Given the description of an element on the screen output the (x, y) to click on. 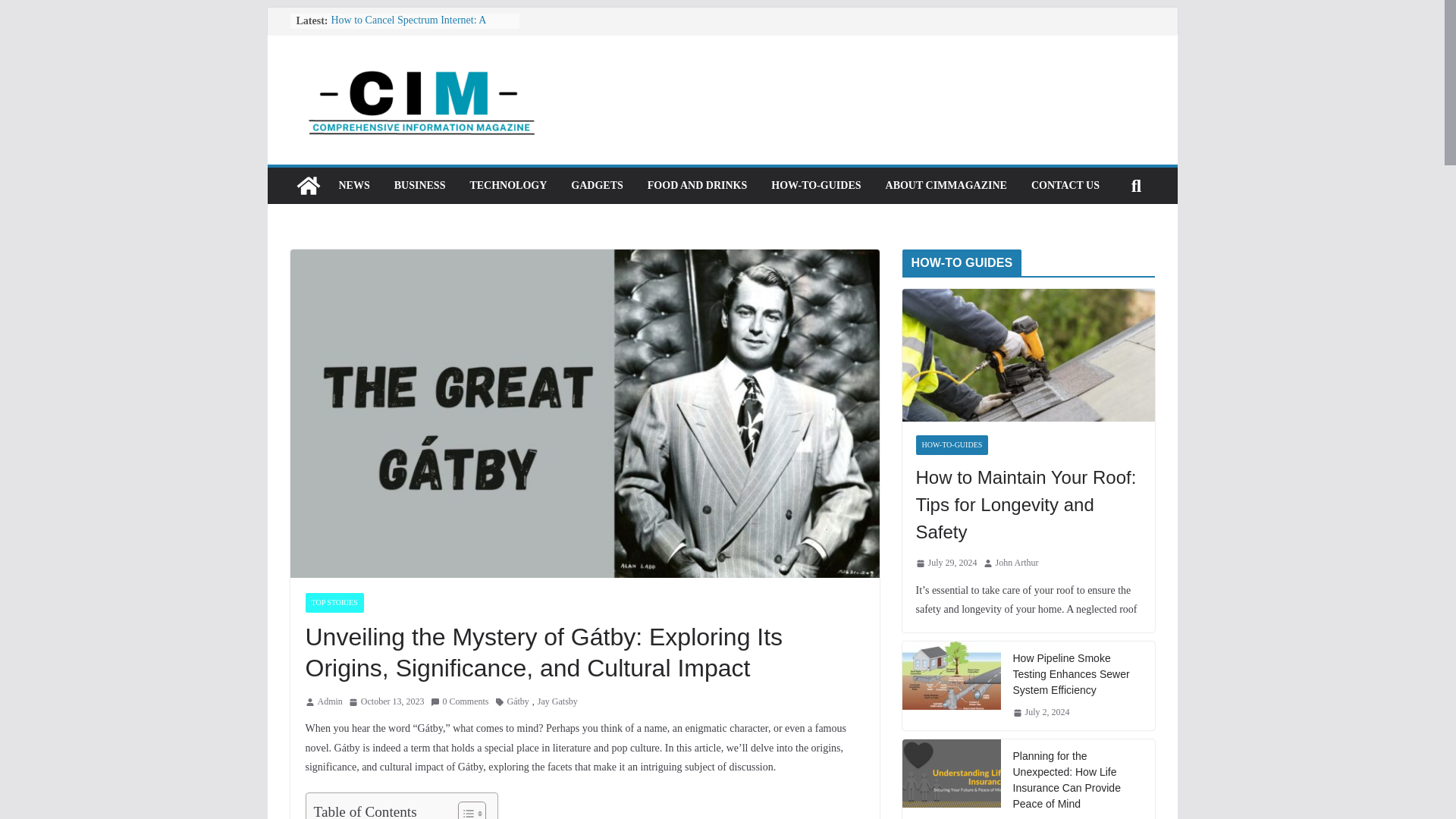
HOW-TO-GUIDES (815, 185)
Jay Gatsby (557, 701)
TOP STORIES (333, 602)
Admin (329, 701)
NEWS (353, 185)
GADGETS (596, 185)
CONTACT US (1064, 185)
How to Cancel Spectrum Internet: A Comprehensive Guide (407, 27)
October 13, 2023 (387, 701)
TECHNOLOGY (507, 185)
